Given the description of an element on the screen output the (x, y) to click on. 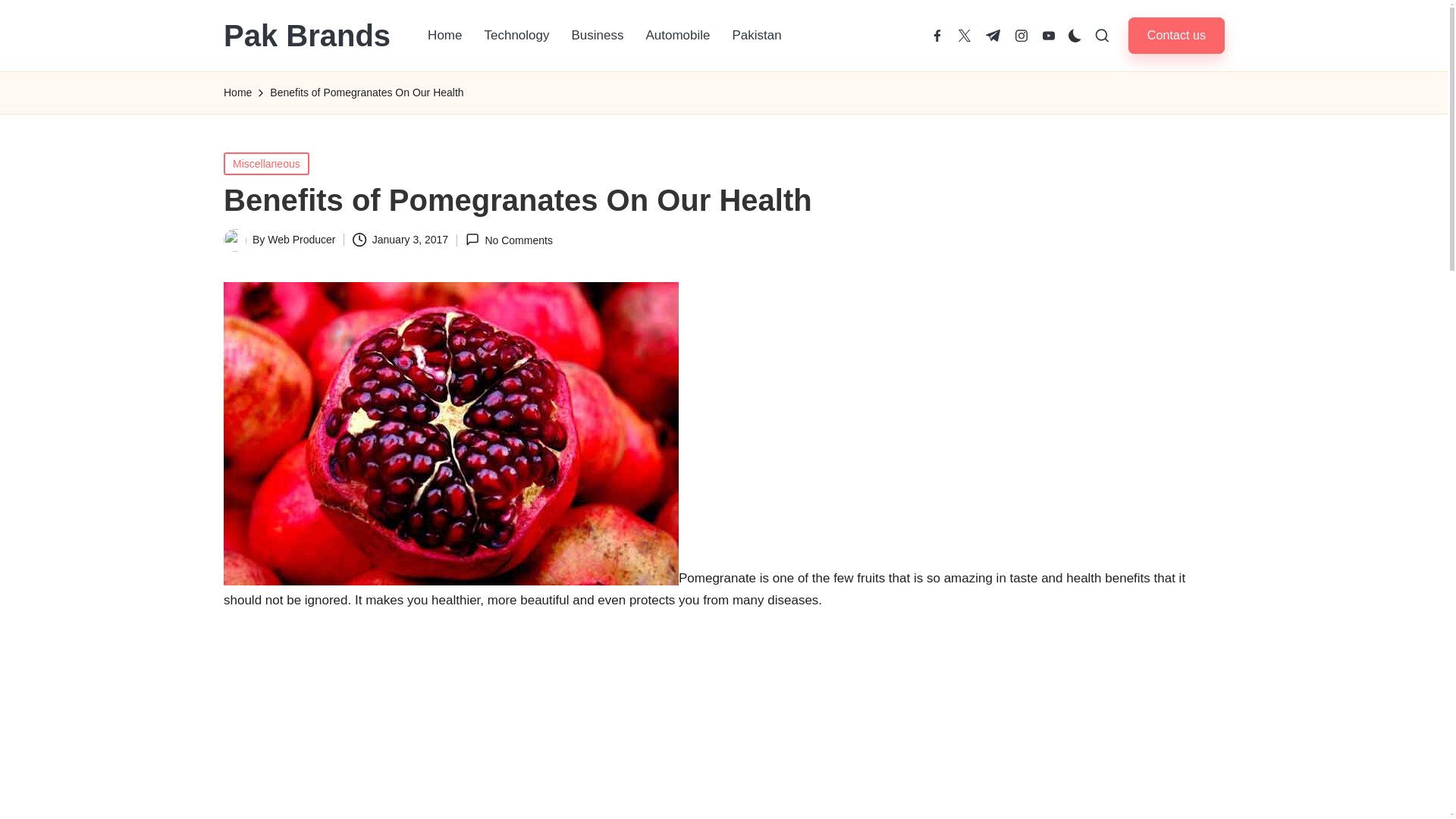
t.me (992, 35)
facebook.com (937, 35)
View all posts by Web Producer (300, 239)
instagram.com (1021, 35)
Miscellaneous (266, 162)
Automobile (677, 35)
Pakistan (757, 35)
youtube.com (1049, 35)
Web Producer (300, 239)
